Given the description of an element on the screen output the (x, y) to click on. 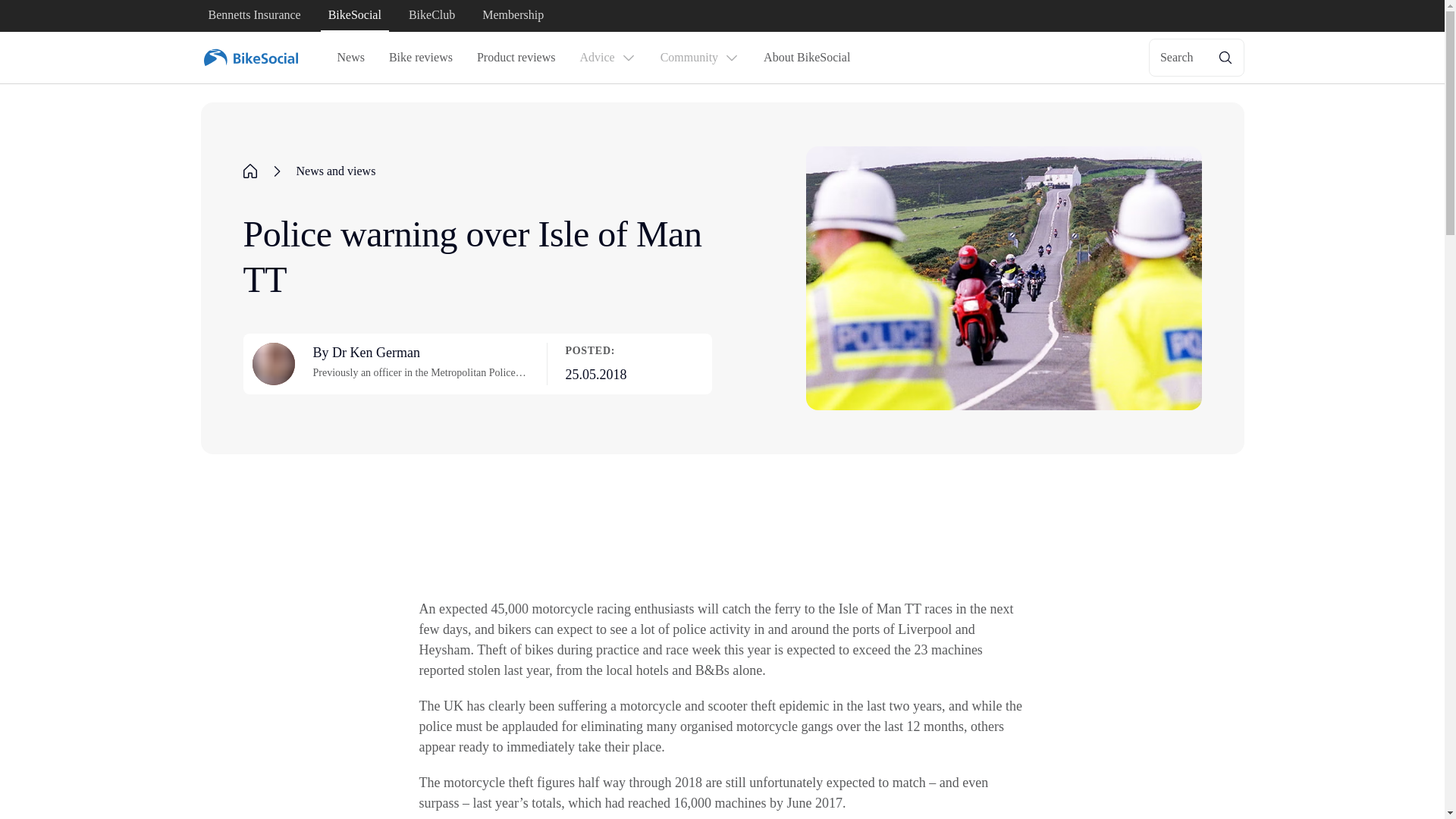
BikeClub (432, 15)
Advice (607, 57)
News (349, 57)
Community (699, 57)
Product reviews (515, 57)
Membership (512, 15)
News and views (335, 171)
Bike reviews (420, 57)
Bennetts Insurance (253, 15)
Search (1196, 57)
